Given the description of an element on the screen output the (x, y) to click on. 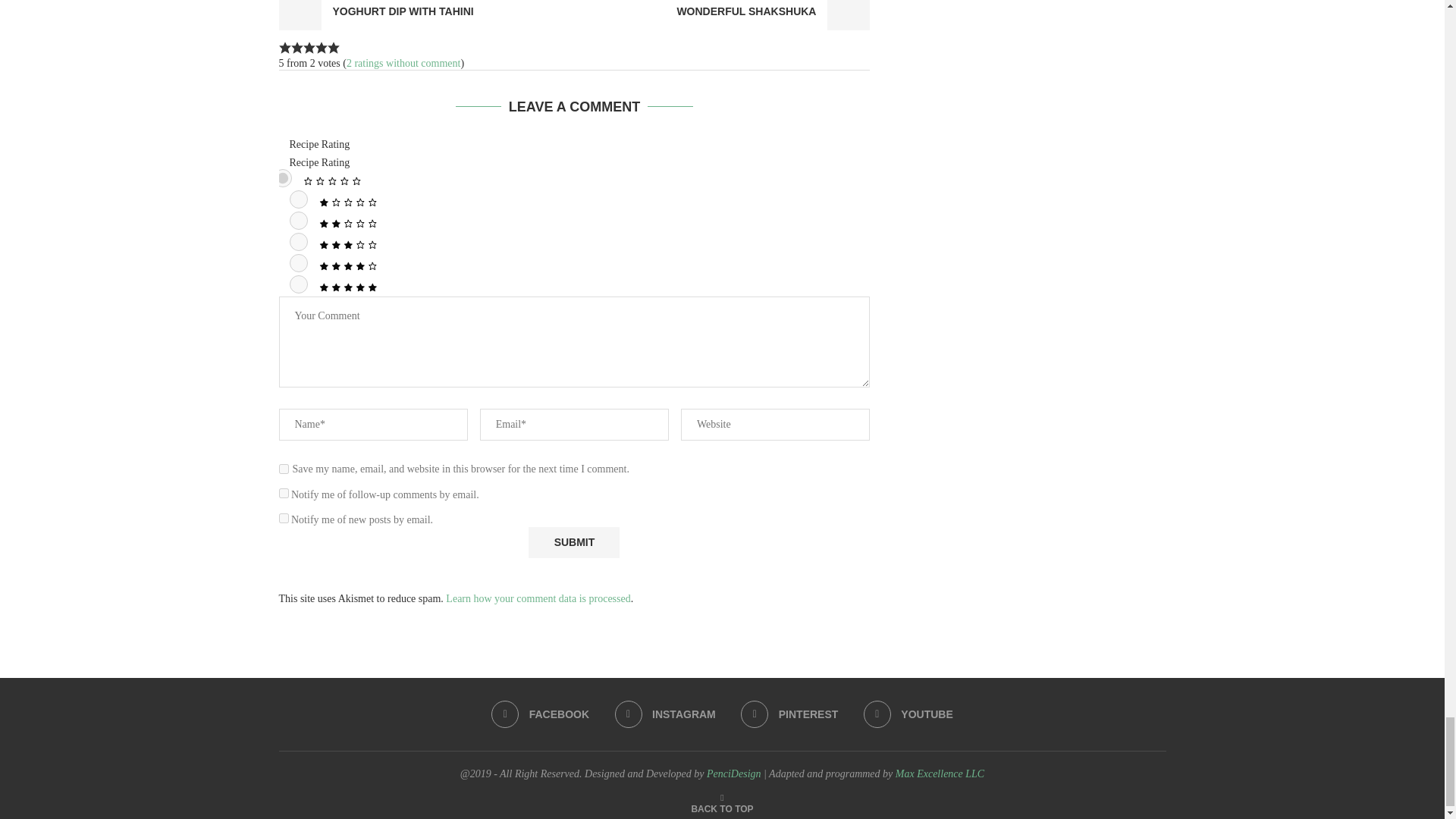
4 (298, 262)
Submit (574, 542)
subscribe (283, 492)
0 (282, 177)
2 (298, 220)
yes (283, 469)
5 (298, 284)
subscribe (283, 518)
3 (298, 241)
1 (298, 199)
